Given the description of an element on the screen output the (x, y) to click on. 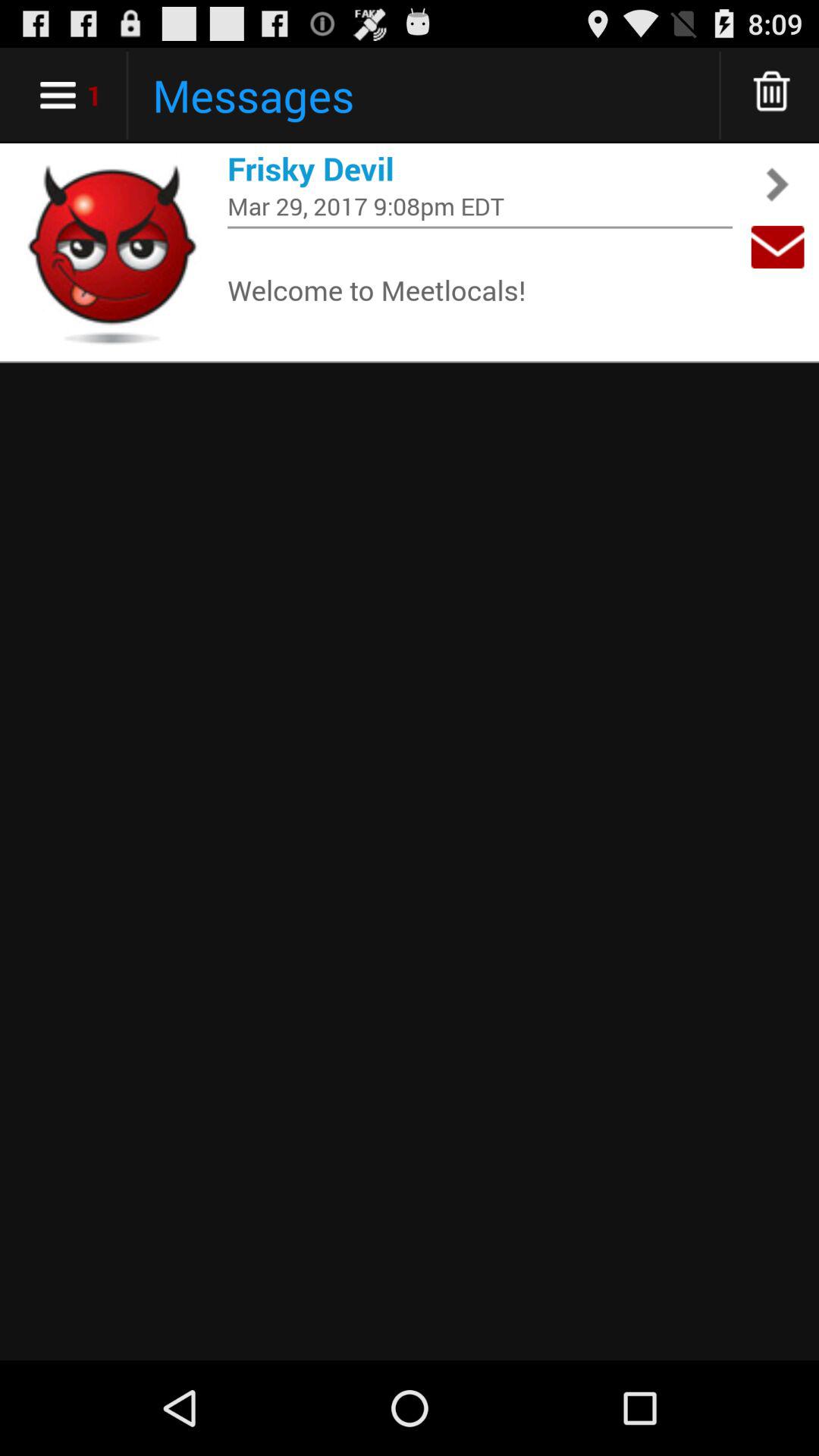
turn off app below mar 29 2017 (479, 227)
